Given the description of an element on the screen output the (x, y) to click on. 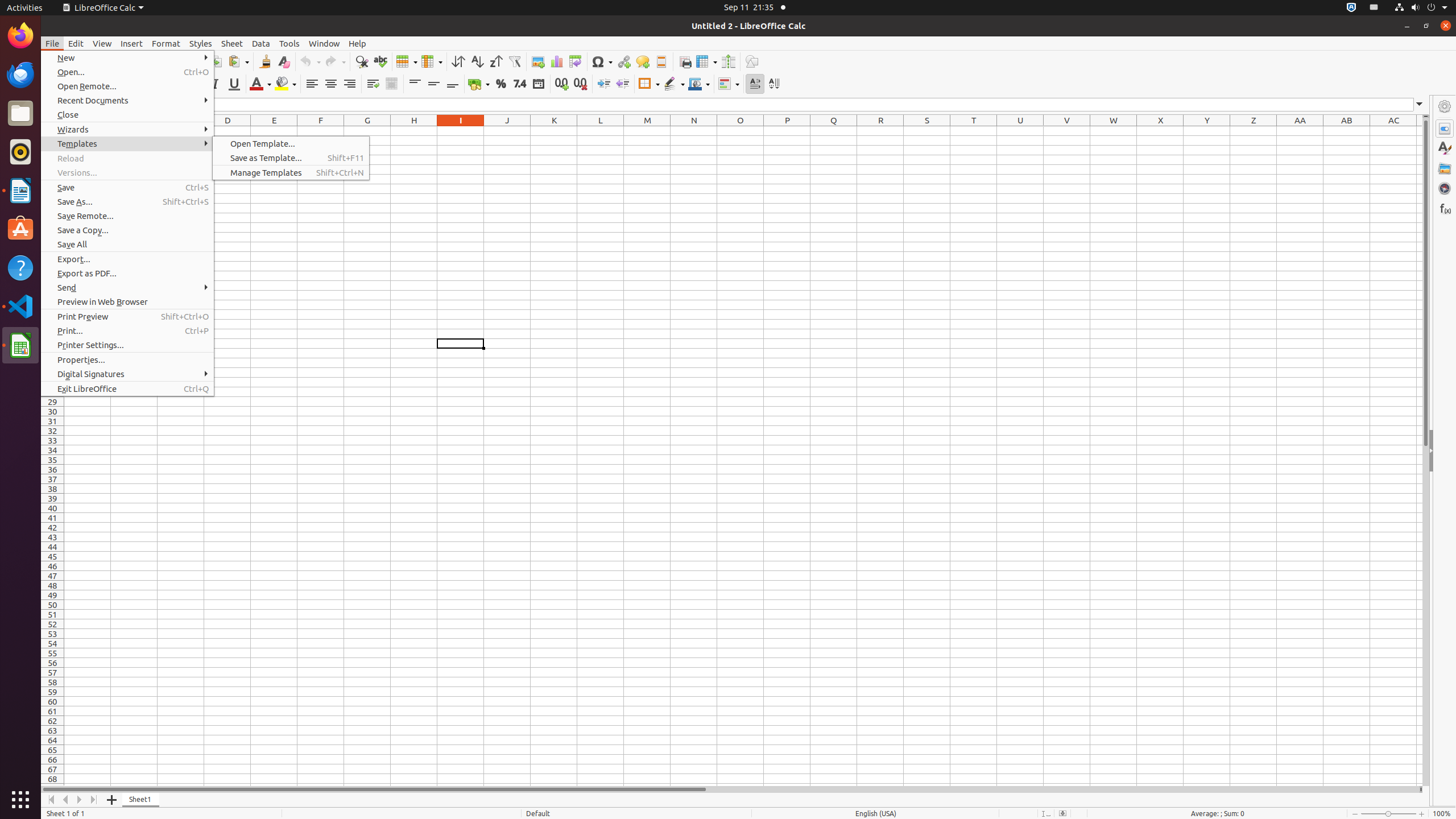
Merge and Center Cells Element type: push-button (391, 83)
Manage Templates Element type: menu-item (290, 172)
U1 Element type: table-cell (1020, 130)
Sheet1 Element type: page-tab (140, 799)
Conditional Element type: push-button (728, 83)
